Given the description of an element on the screen output the (x, y) to click on. 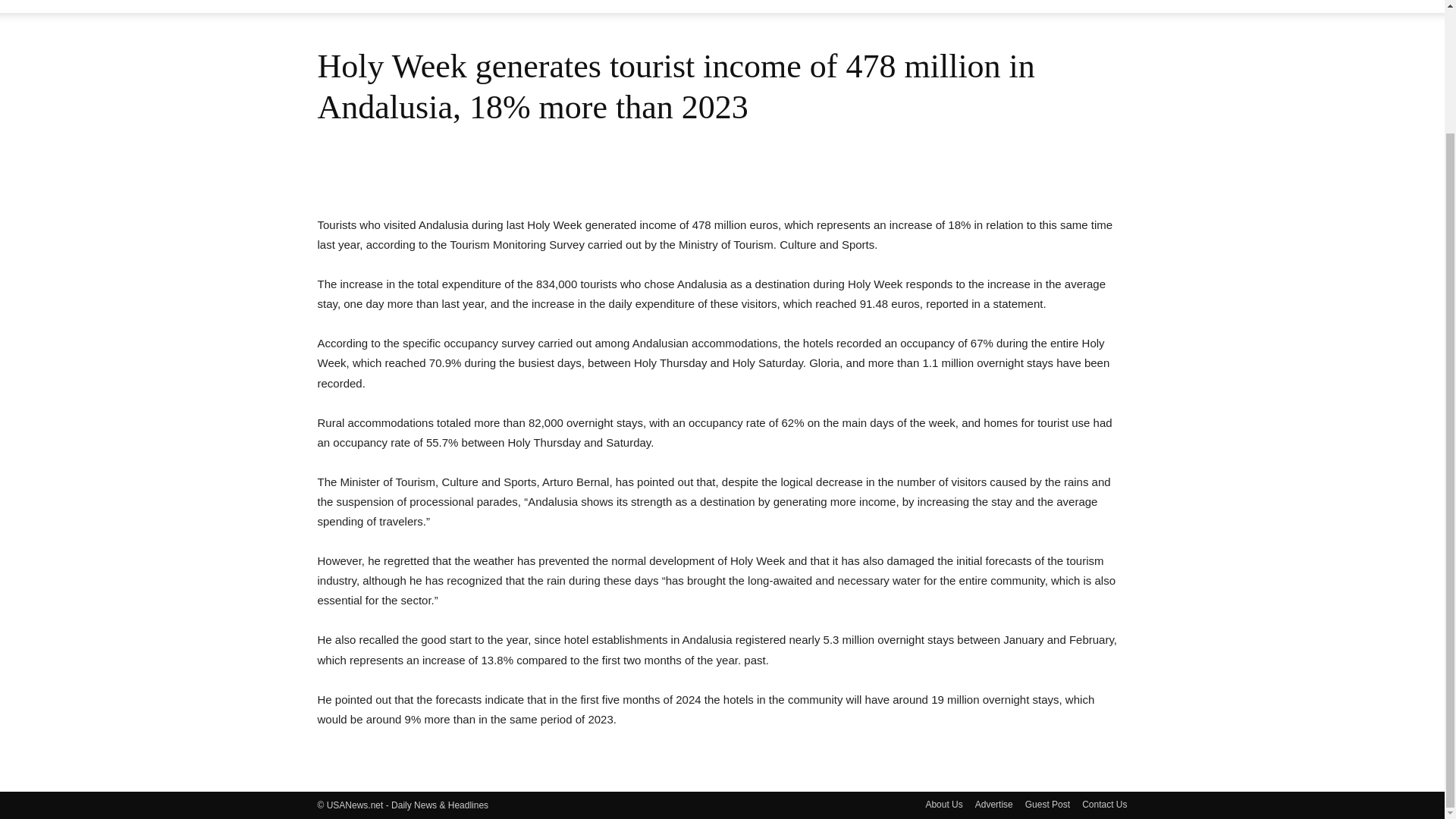
Contact Us (1103, 804)
Advertise (994, 804)
SPORTS (990, 6)
Guest Post (1047, 804)
BUSINESS (634, 6)
TECHNOLOGY (1074, 6)
LIFE STYLE (838, 6)
ENTERTAINMENT (733, 6)
About Us (943, 804)
POLITICS (920, 6)
